Given the description of an element on the screen output the (x, y) to click on. 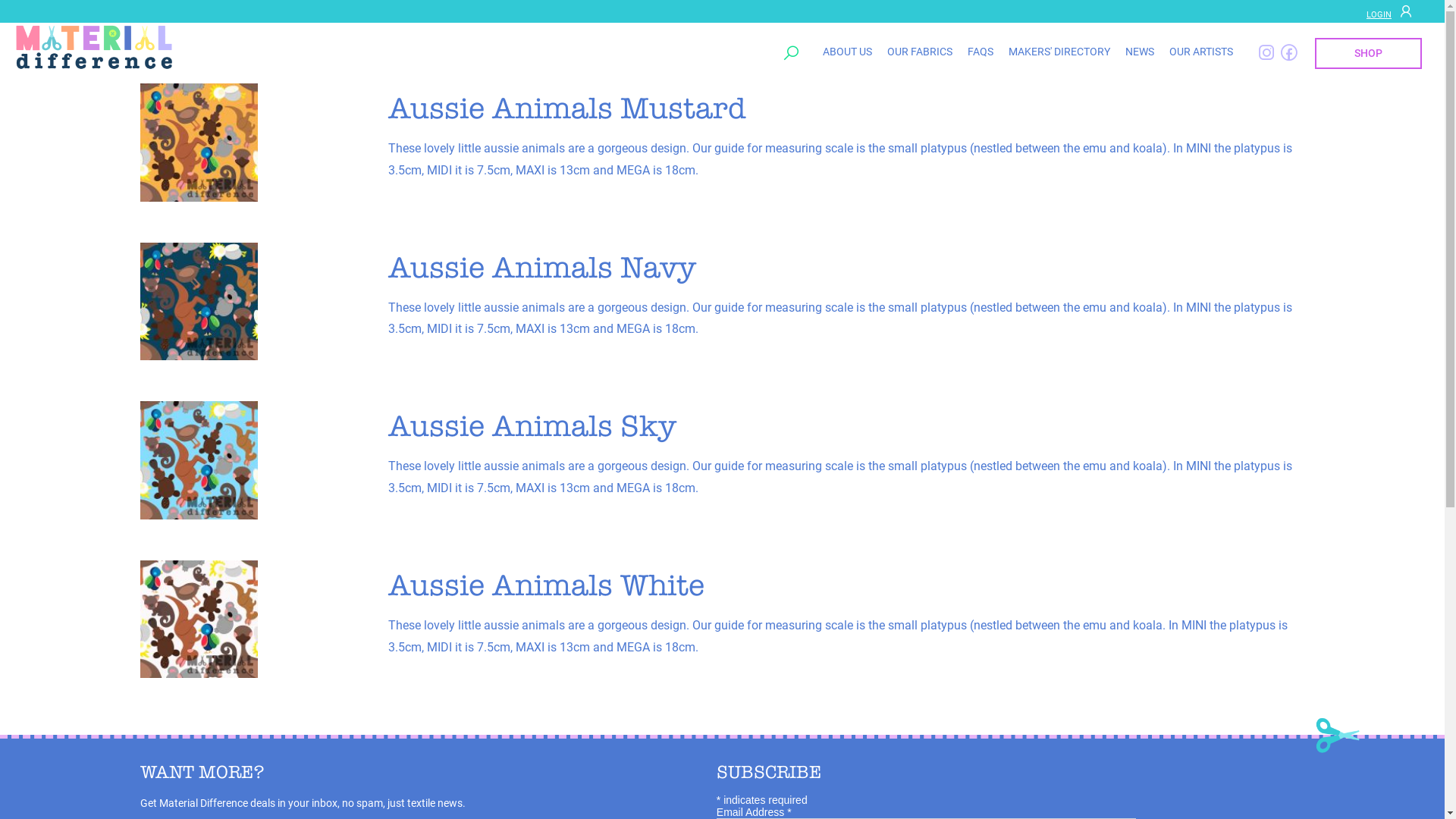
ABOUT US Element type: text (847, 51)
OUR ARTISTS Element type: text (1201, 51)
OUR FABRICS Element type: text (919, 51)
LOGIN Element type: text (1392, 11)
NEWS Element type: text (1139, 51)
MAKERS' DIRECTORY Element type: text (1059, 51)
SHOP Element type: text (1367, 53)
FAQS Element type: text (980, 51)
